Given the description of an element on the screen output the (x, y) to click on. 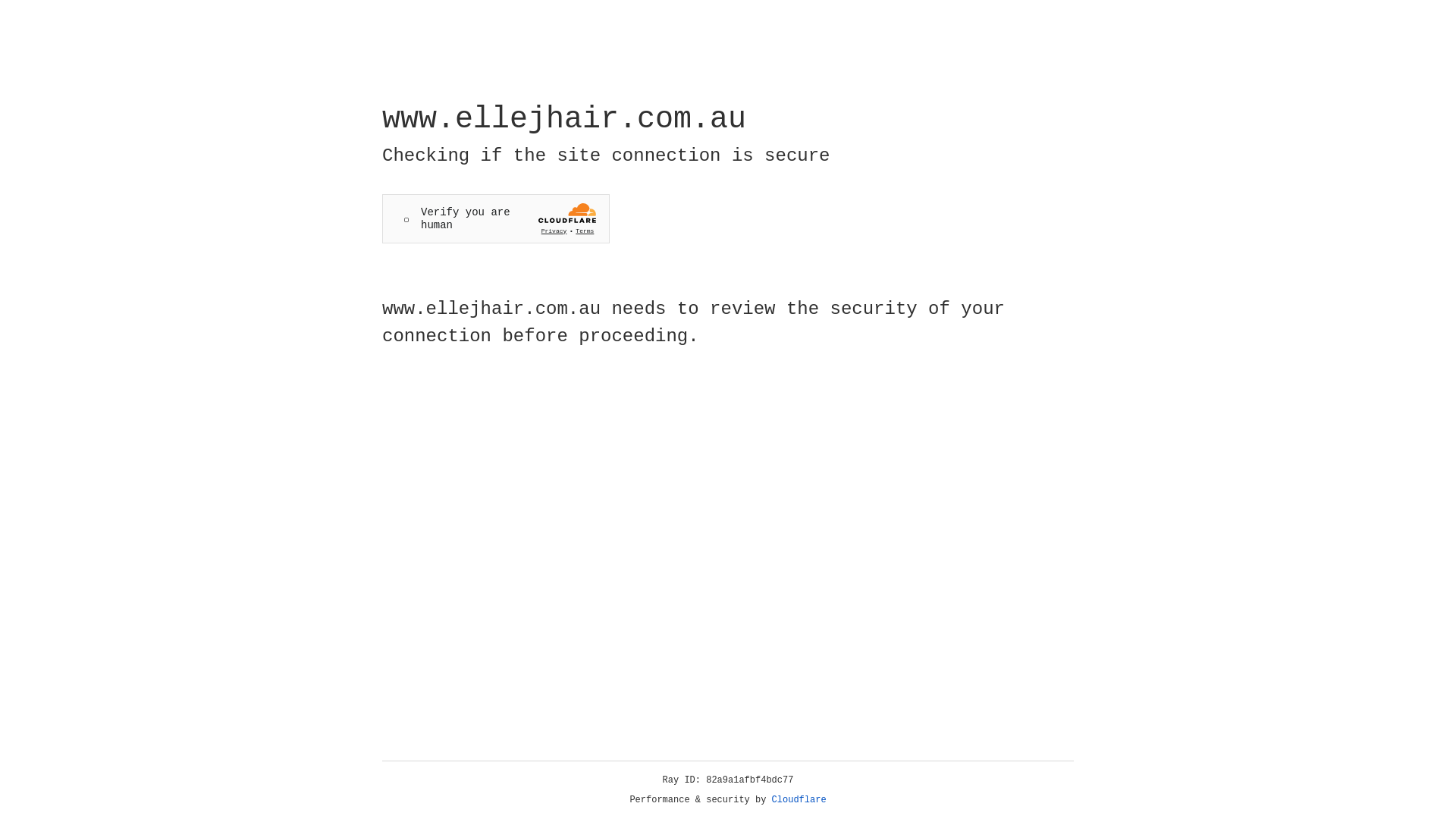
Cloudflare Element type: text (798, 799)
Widget containing a Cloudflare security challenge Element type: hover (495, 218)
